Given the description of an element on the screen output the (x, y) to click on. 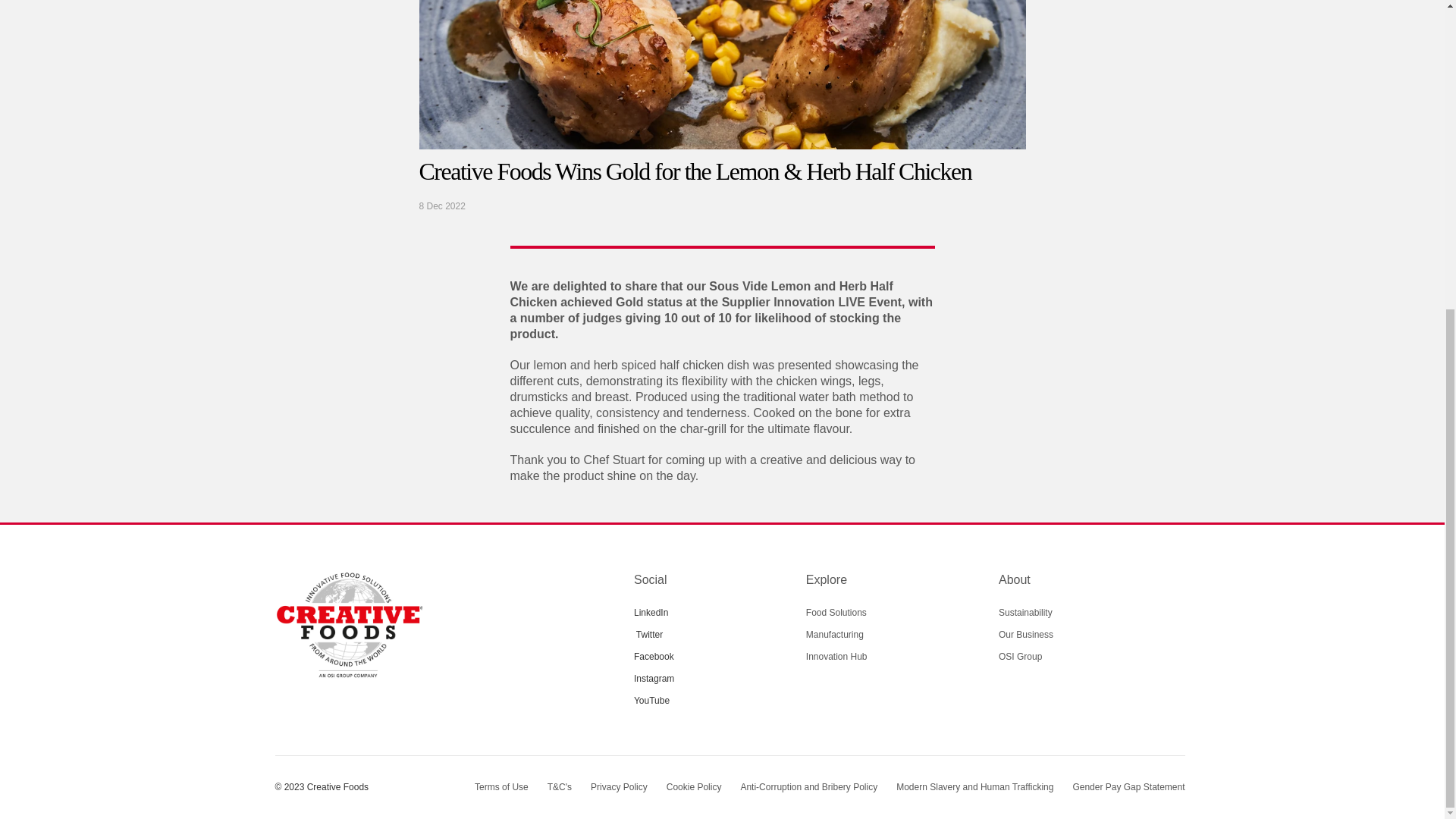
Sustainability (1025, 612)
Facebook (653, 656)
Our Business (1025, 634)
YouTube (651, 700)
Terms of Use (501, 787)
Twitter (649, 634)
Food Solutions (836, 612)
LinkedIn (650, 612)
Anti-Corruption and Bribery Policy (808, 787)
Privacy Policy (619, 787)
